Given the description of an element on the screen output the (x, y) to click on. 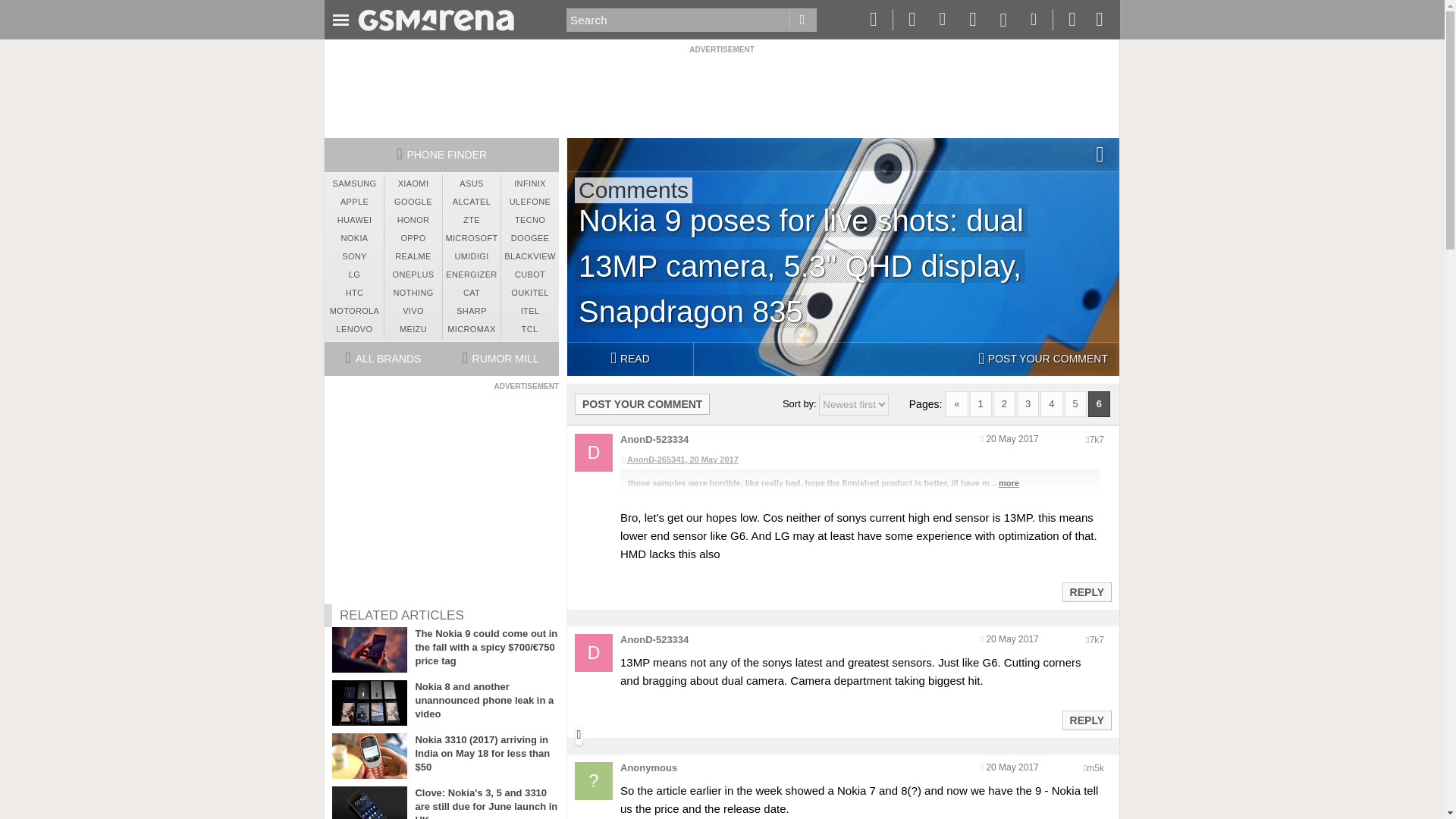
POST YOUR COMMENT (1042, 359)
Go (802, 19)
Sort comments by (853, 404)
Go (802, 19)
Reply to this post (1086, 720)
Encoded anonymized location (1096, 639)
Encoded anonymized location (1094, 767)
POST YOUR COMMENT (642, 403)
Encoded anonymized location (1096, 439)
READ (630, 359)
Reply to this post (1086, 592)
